Given the description of an element on the screen output the (x, y) to click on. 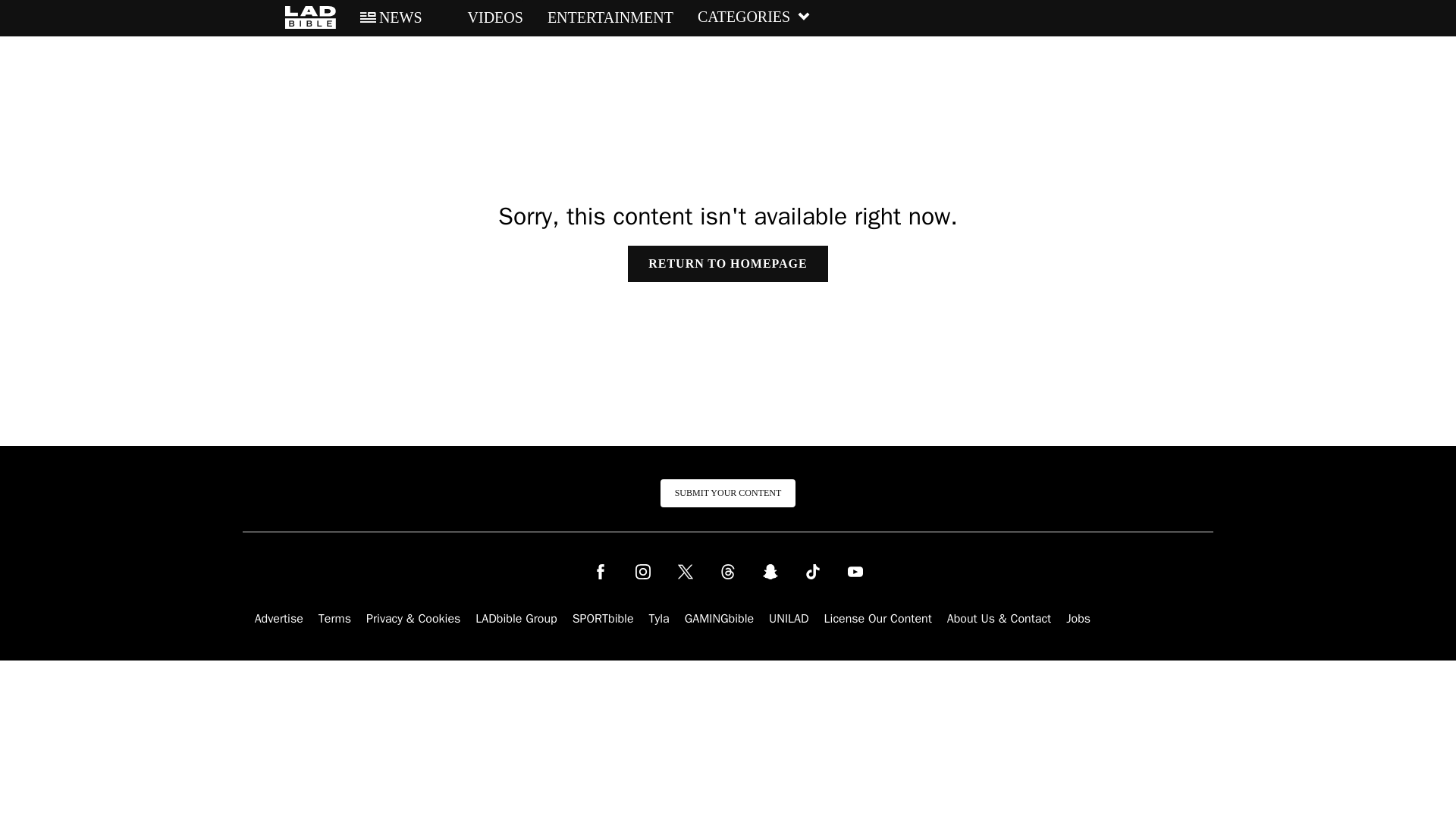
ENTERTAINMENT (609, 17)
NEWS (390, 17)
VIDEOS (484, 17)
CATEGORIES (753, 17)
Advertise (278, 618)
RETURN TO HOMEPAGE (727, 263)
